Given the description of an element on the screen output the (x, y) to click on. 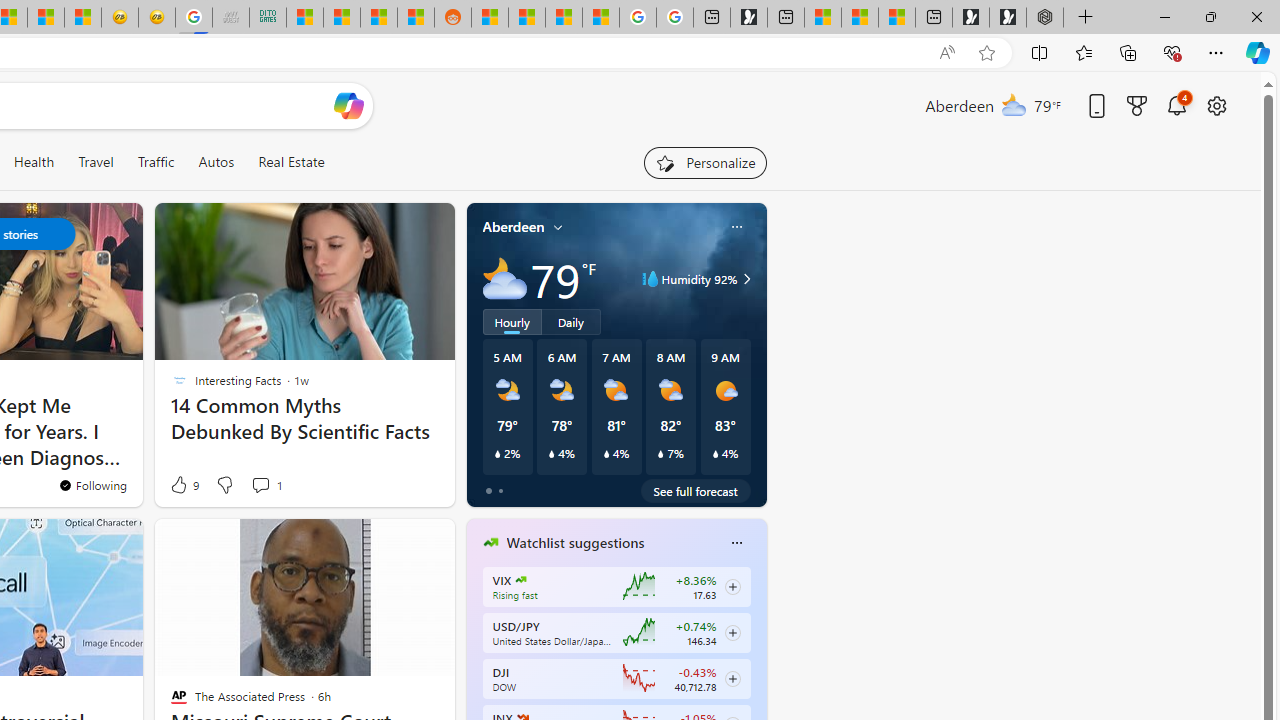
Mostly cloudy (504, 278)
R******* | Trusted Community Engagement and Contributions (490, 17)
